Given the description of an element on the screen output the (x, y) to click on. 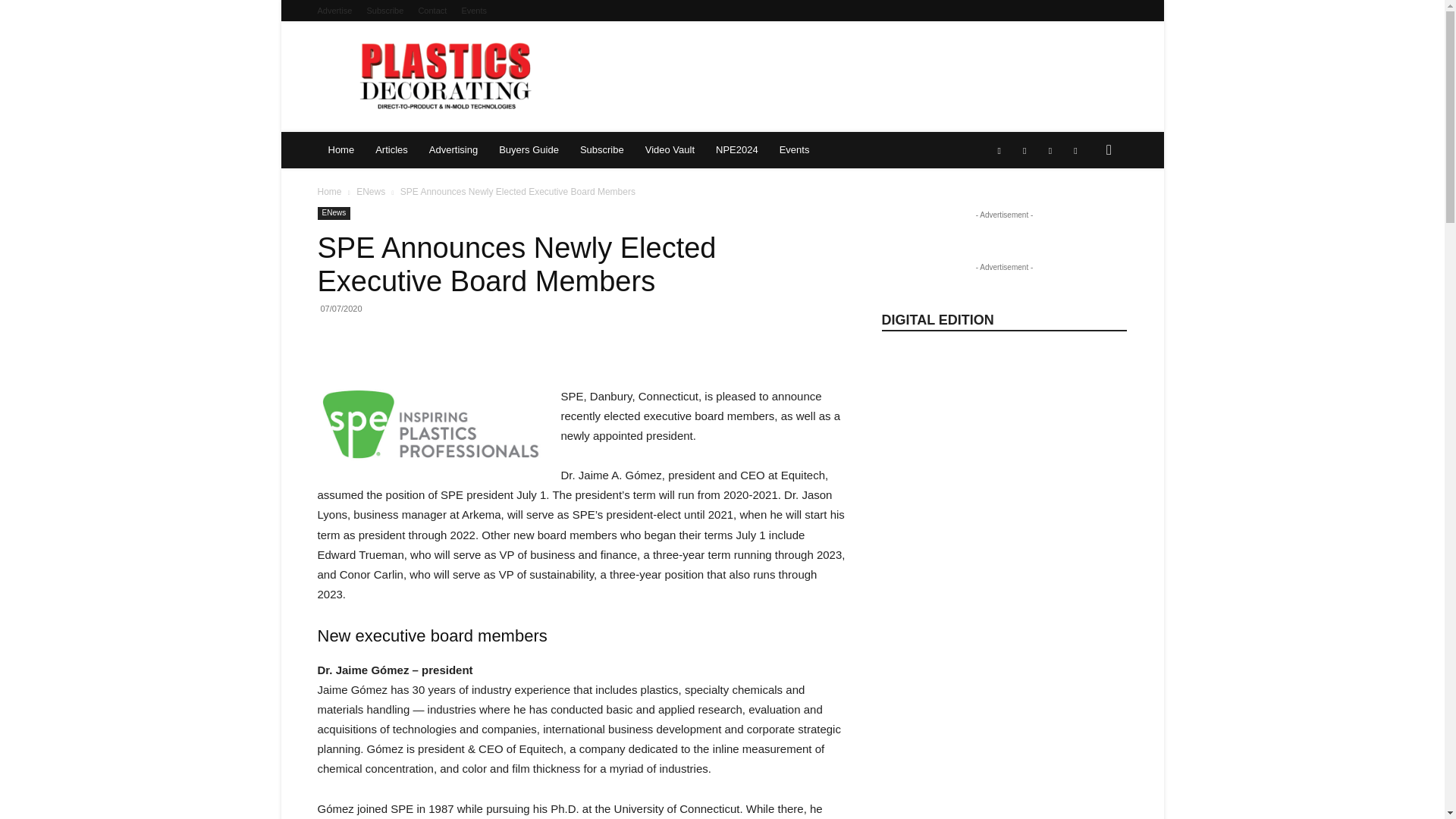
Home (341, 149)
Events (473, 10)
Advertise (334, 10)
Advertising (453, 149)
View all posts in ENews (370, 191)
Plastics Decorating Magazine (446, 76)
Articles (392, 149)
Twitter (1075, 149)
Linkedin (1024, 149)
Facebook (999, 149)
Mail (1050, 149)
Subscribe (384, 10)
Contact (431, 10)
